Given the description of an element on the screen output the (x, y) to click on. 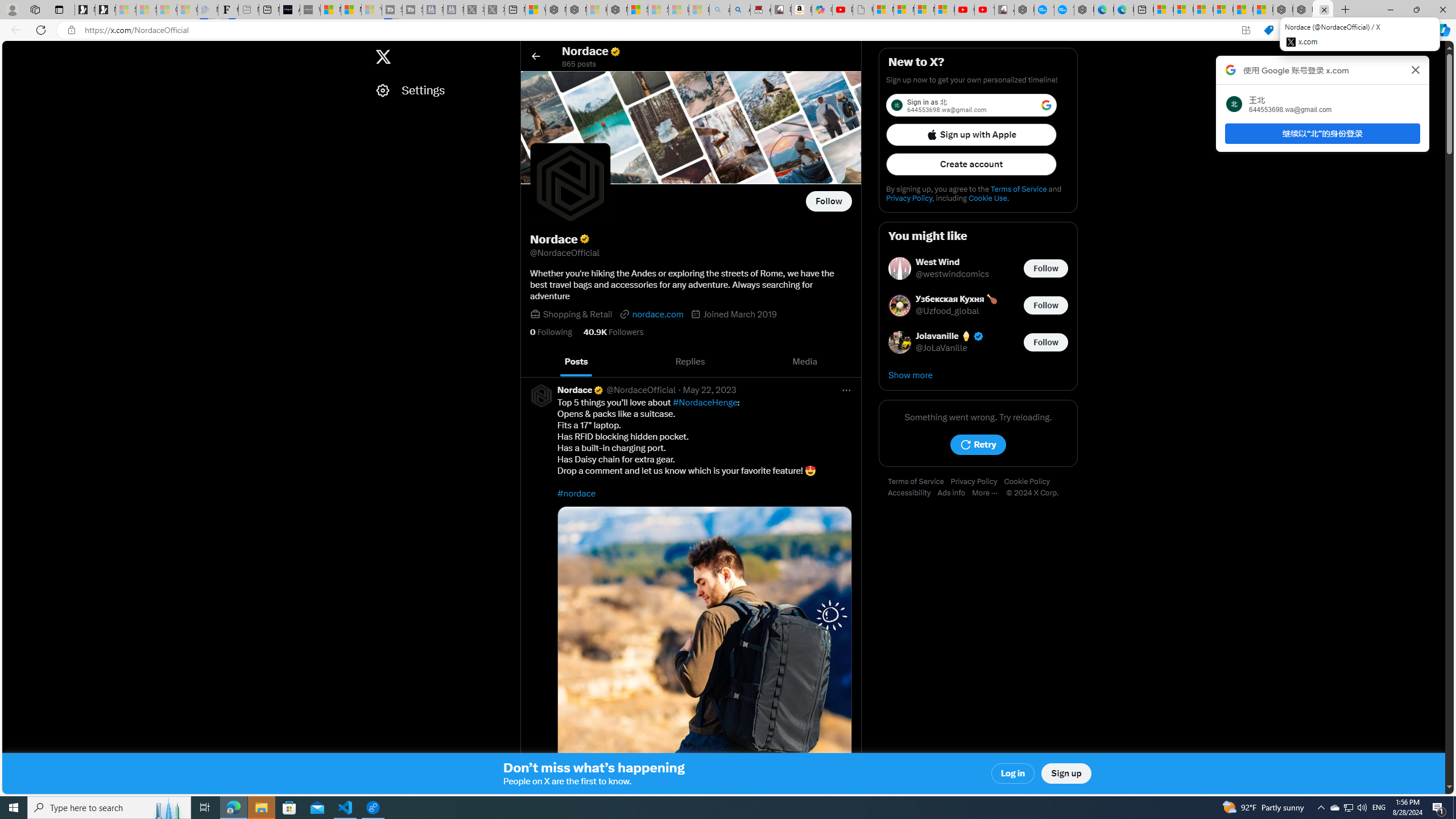
Microsoft Start (1242, 9)
Copilot (821, 9)
Nordace - My Account (1024, 9)
X - Sleeping (494, 9)
Ads info (954, 492)
Square profile picture and Opens profile photo (569, 182)
40.9K Followers (612, 331)
X (382, 56)
App bar (728, 29)
Class: Bz112c Bz112c-r9oPif (1415, 69)
Newsletter Sign Up (105, 9)
